Given the description of an element on the screen output the (x, y) to click on. 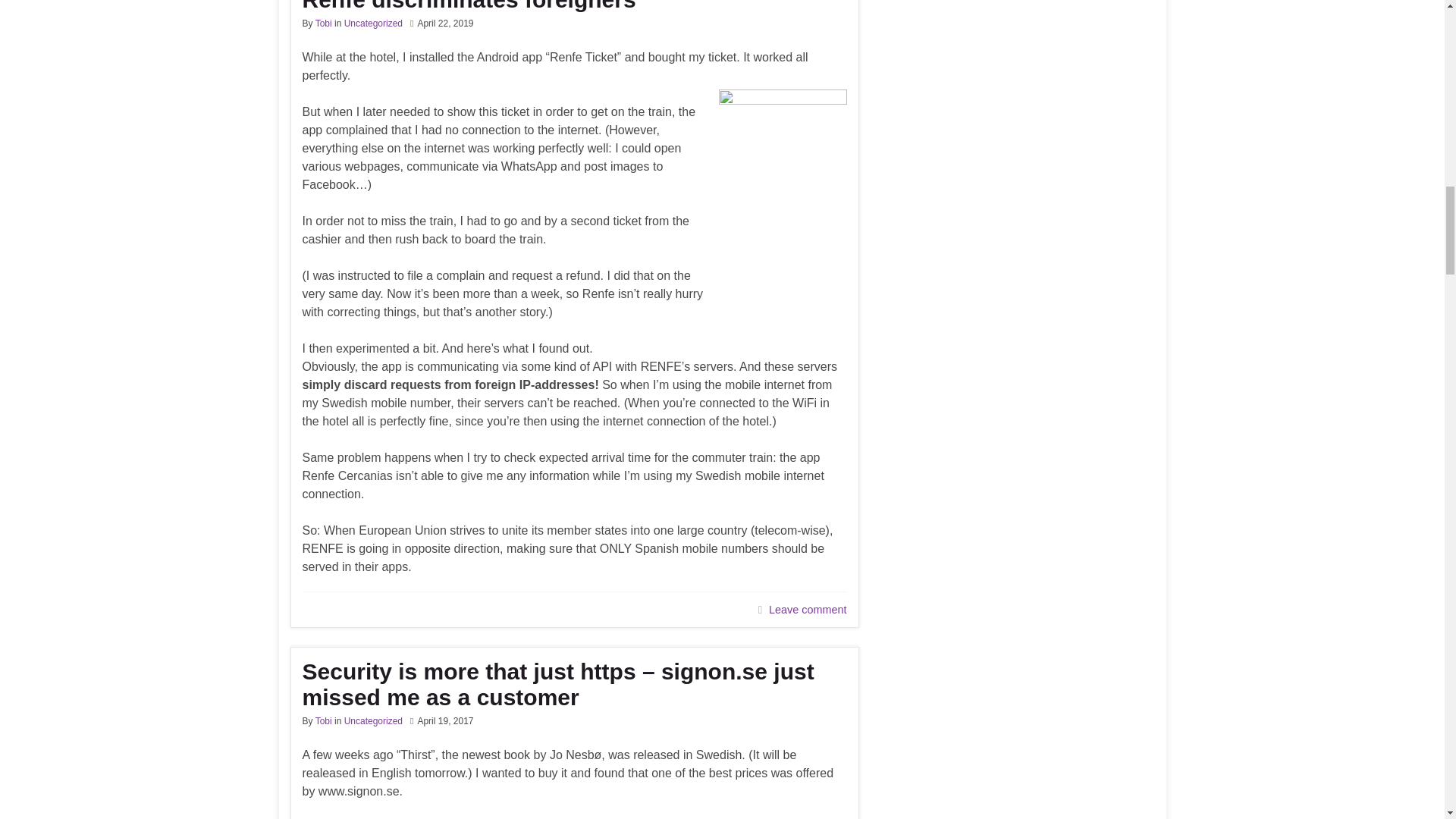
Leave comment (806, 609)
Uncategorized (373, 23)
Renfe discriminates foreigners (573, 6)
Tobi (323, 23)
Uncategorized (373, 720)
Tobi (323, 720)
Permalink to Renfe discriminates foreigners (573, 6)
